Given the description of an element on the screen output the (x, y) to click on. 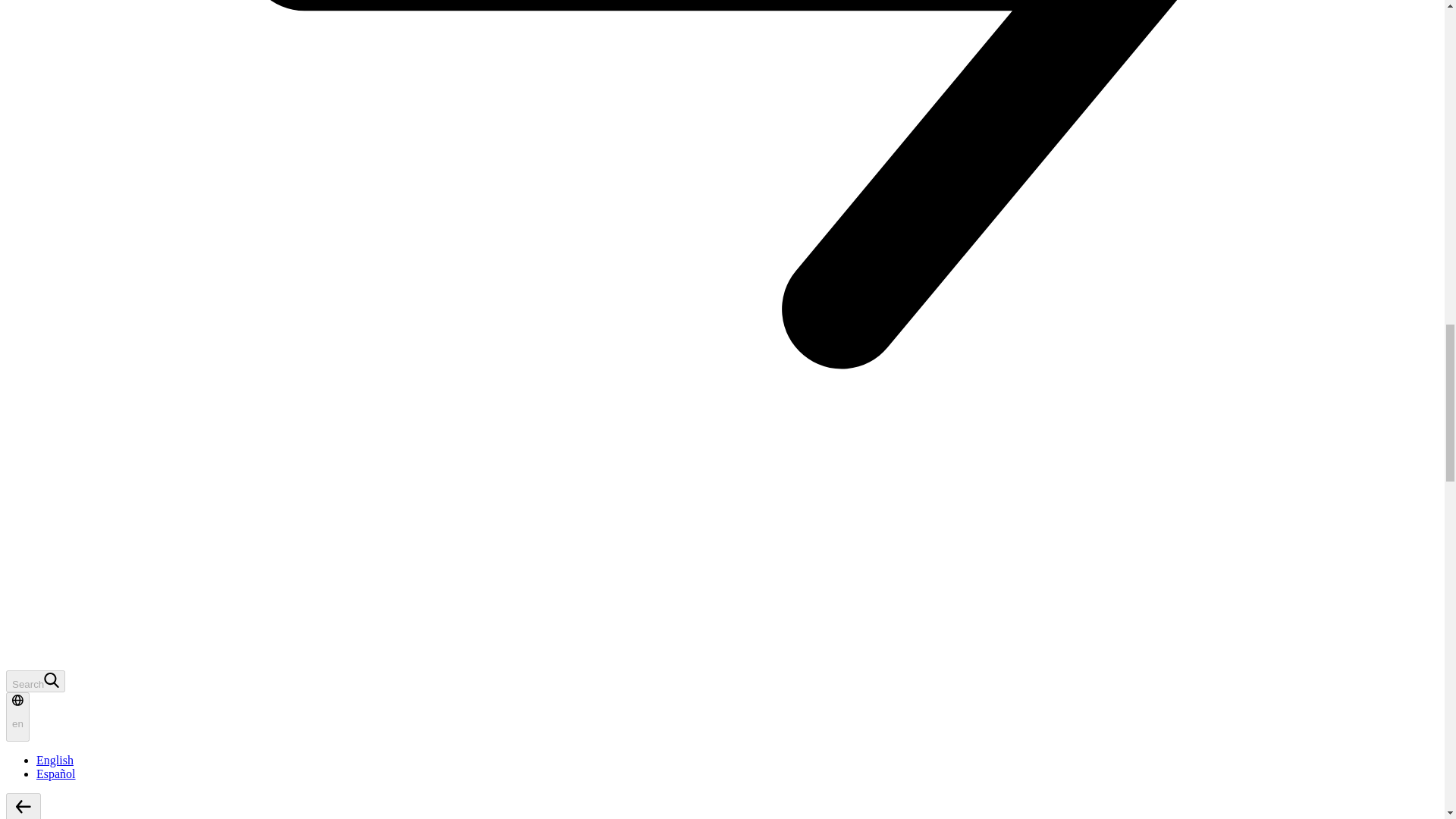
Back (22, 806)
Search (35, 681)
English (55, 759)
